Given the description of an element on the screen output the (x, y) to click on. 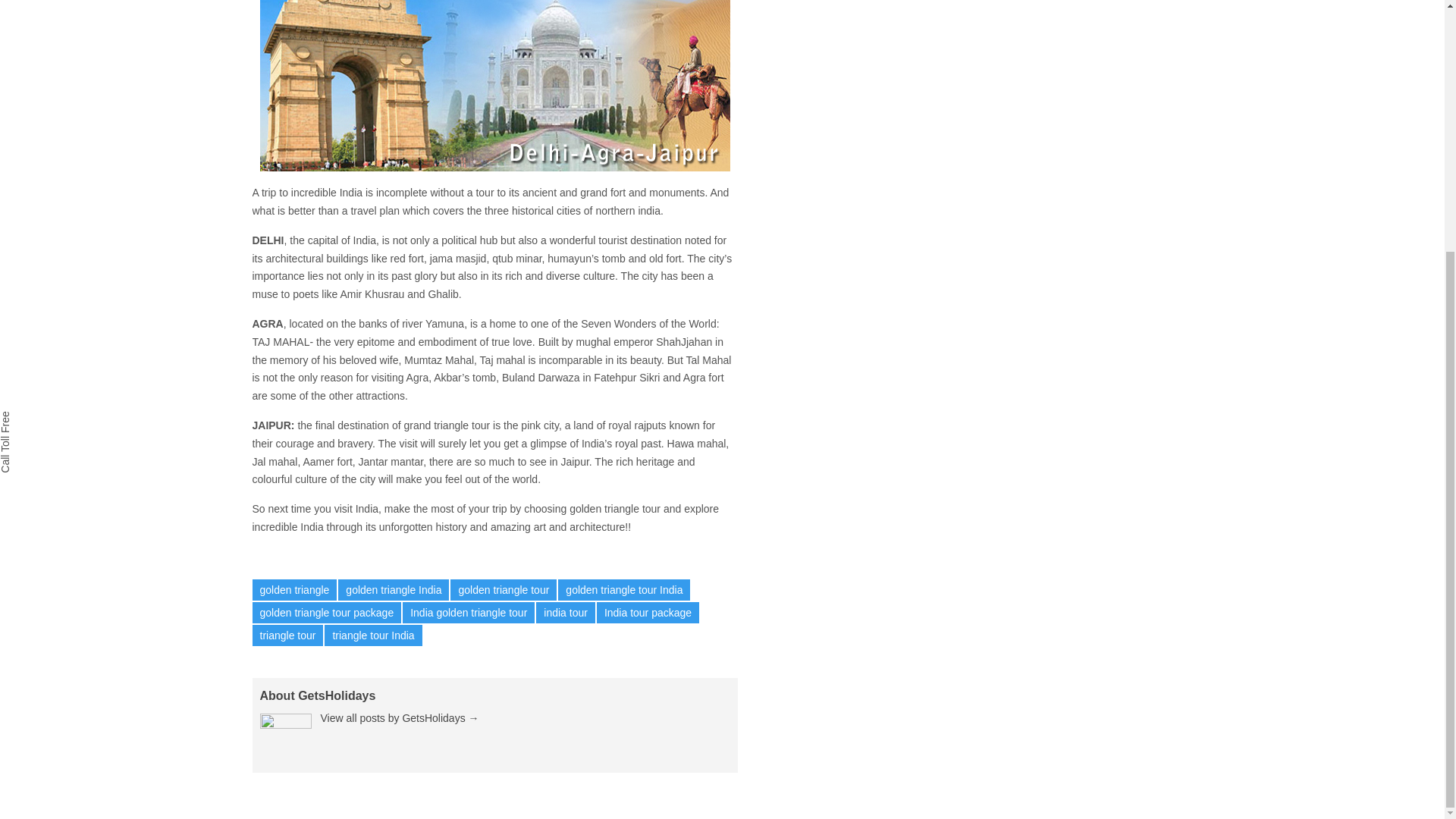
golden triangle India (392, 589)
golden triangle tour India (623, 589)
golden triangle tour (502, 589)
Golden Triangle Tour (494, 85)
golden triangle (293, 589)
